Given the description of an element on the screen output the (x, y) to click on. 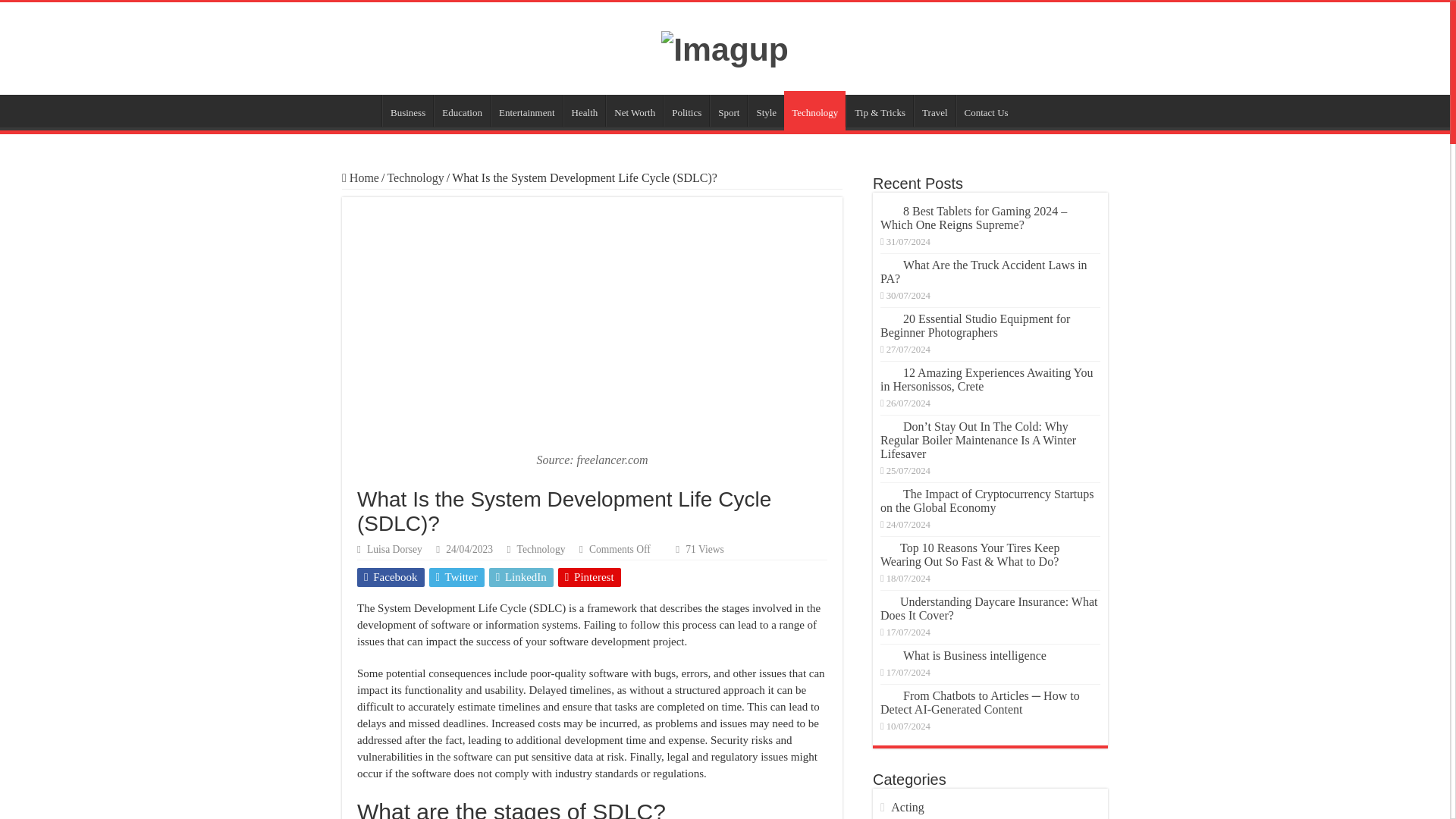
Sport (728, 110)
Twitter (456, 577)
Imagup (725, 46)
Travel (934, 110)
Home (361, 110)
Health (584, 110)
Education (461, 110)
Technology (541, 549)
Luisa Dorsey (394, 549)
Net Worth (633, 110)
Technology (415, 177)
Facebook (390, 577)
Entertainment (526, 110)
Home (360, 177)
Business (406, 110)
